Given the description of an element on the screen output the (x, y) to click on. 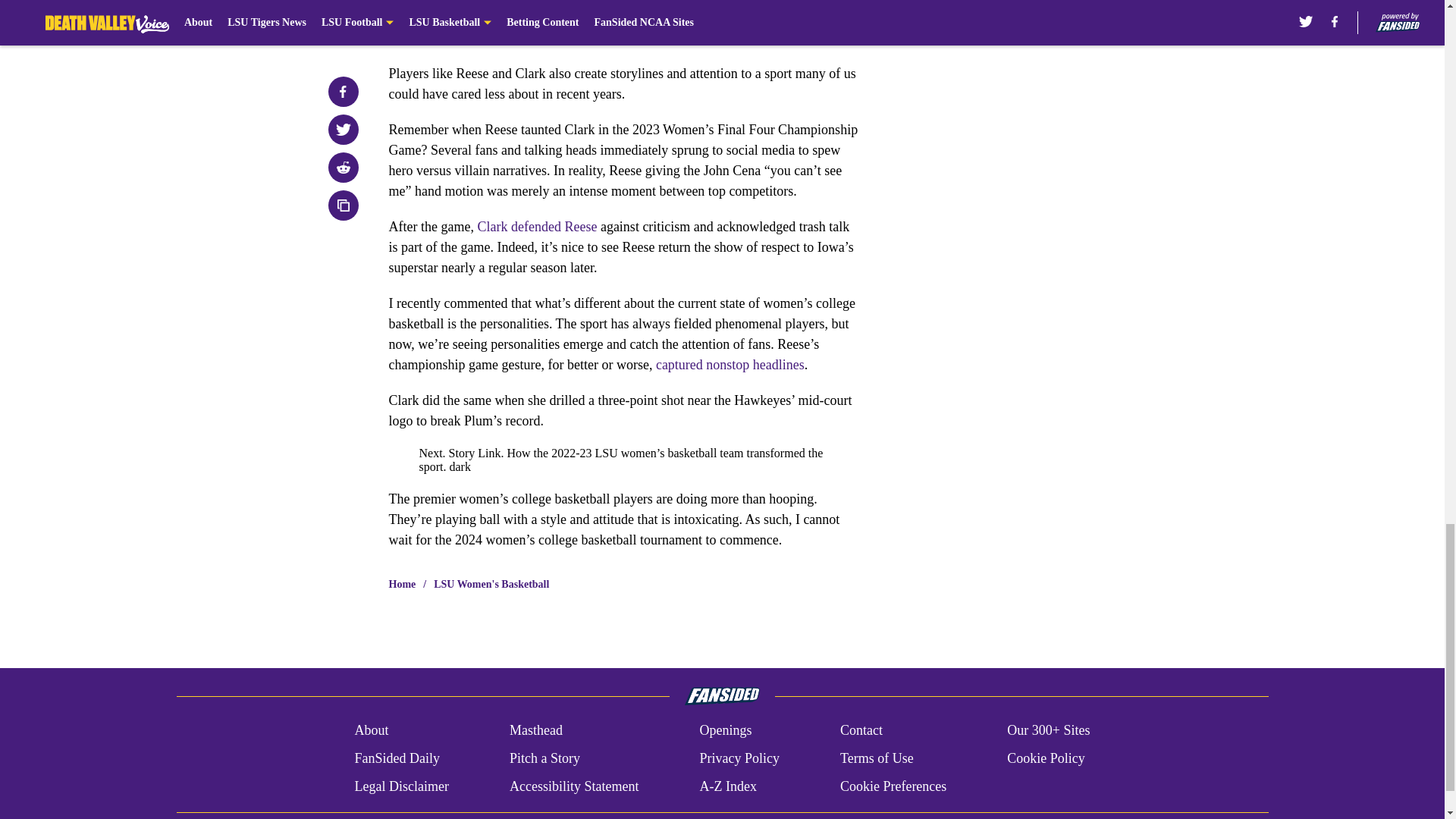
Masthead (535, 730)
Cookie Policy (1045, 758)
LSU Women's Basketball (490, 584)
Contact (861, 730)
rise in popularity (607, 27)
FanSided Daily (396, 758)
captured nonstop headlines (730, 364)
Clark defended Reese (536, 226)
Legal Disclaimer (400, 786)
About (370, 730)
Openings (724, 730)
Home (401, 584)
Pitch a Story (544, 758)
Terms of Use (877, 758)
Privacy Policy (738, 758)
